Given the description of an element on the screen output the (x, y) to click on. 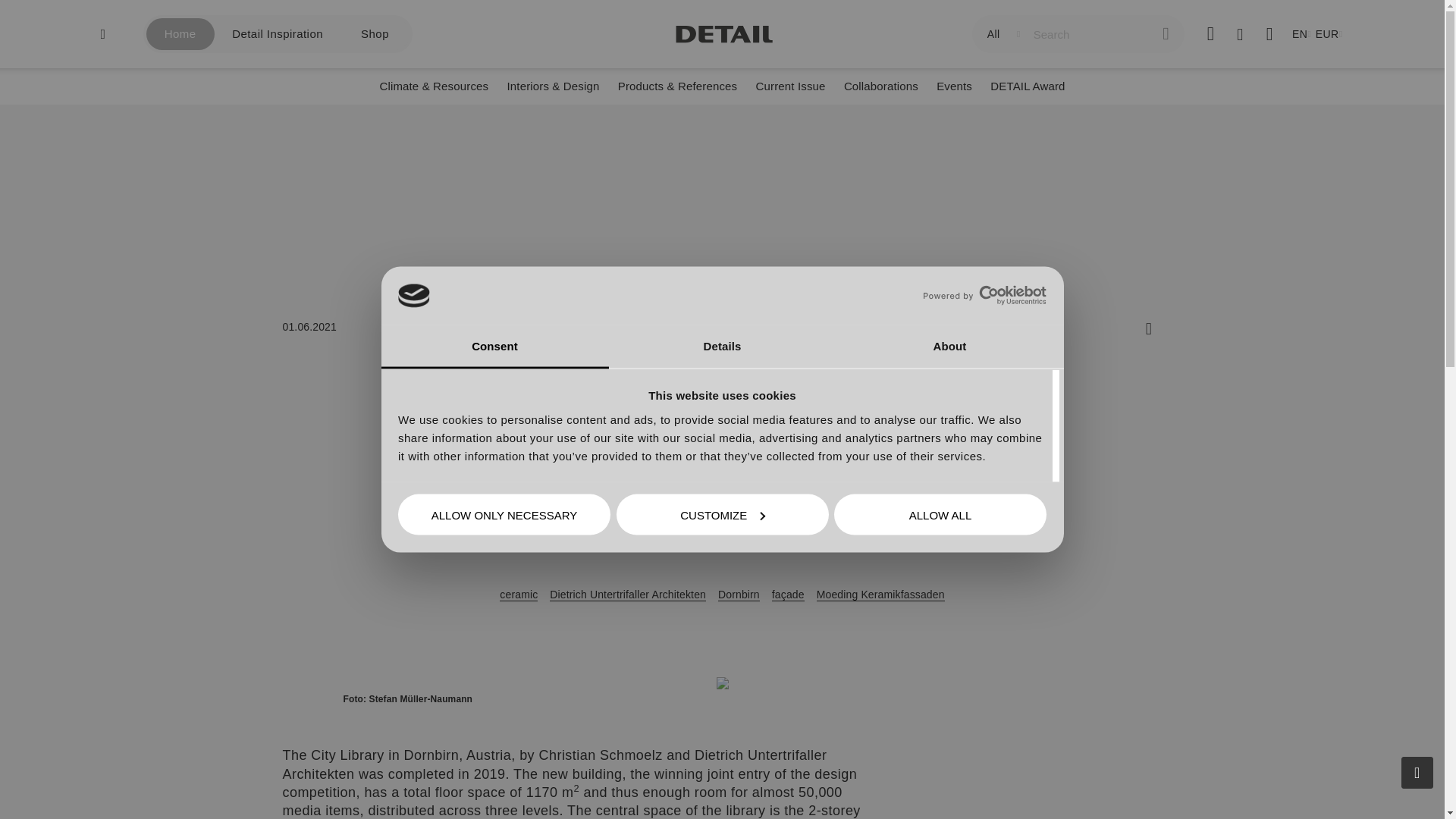
Scrollup (1416, 772)
Consent (494, 346)
Details (721, 346)
About (948, 346)
